Given the description of an element on the screen output the (x, y) to click on. 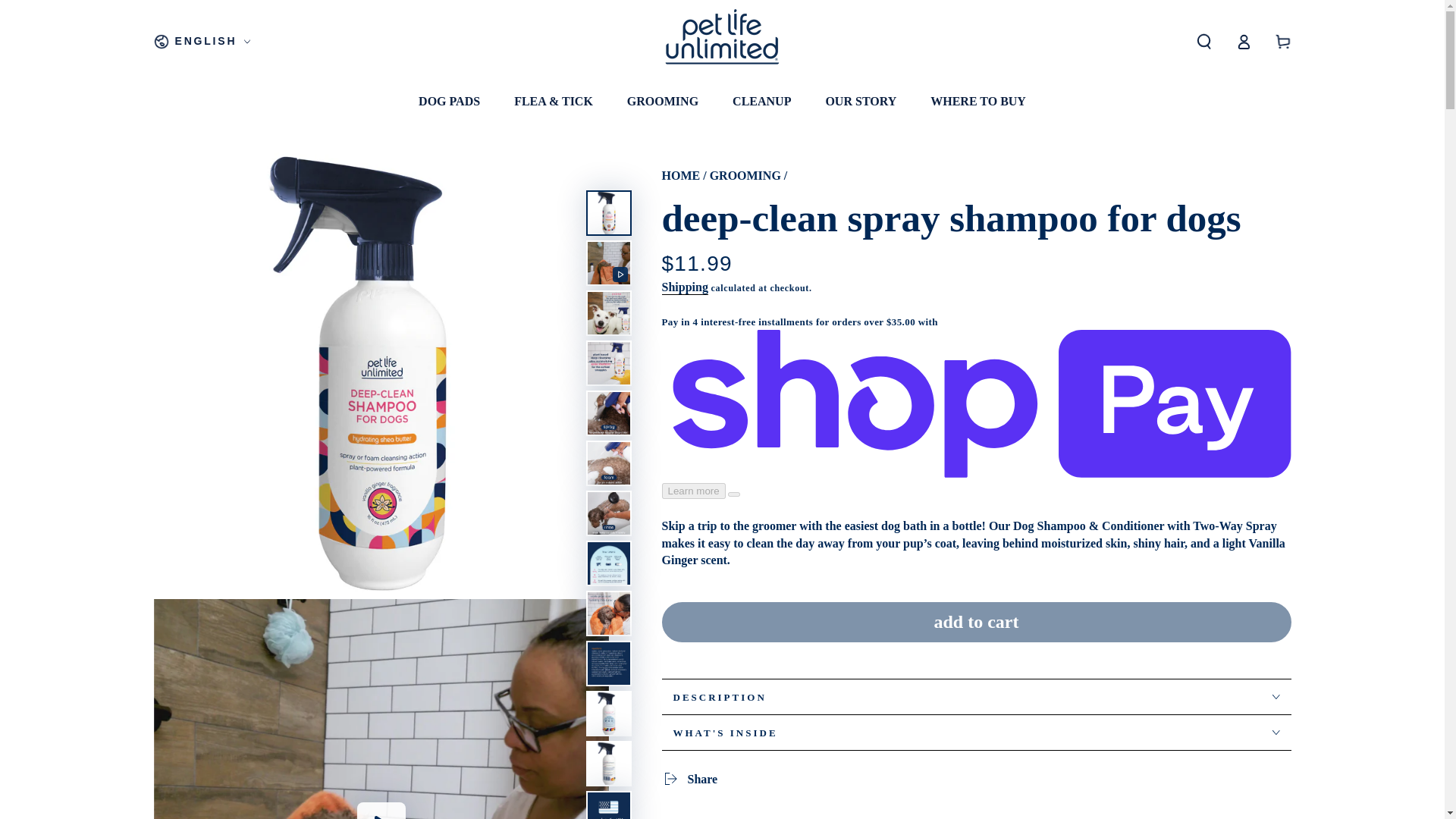
Skip to content (67, 14)
Back to the frontpage (680, 174)
ENGLISH (201, 40)
